Given the description of an element on the screen output the (x, y) to click on. 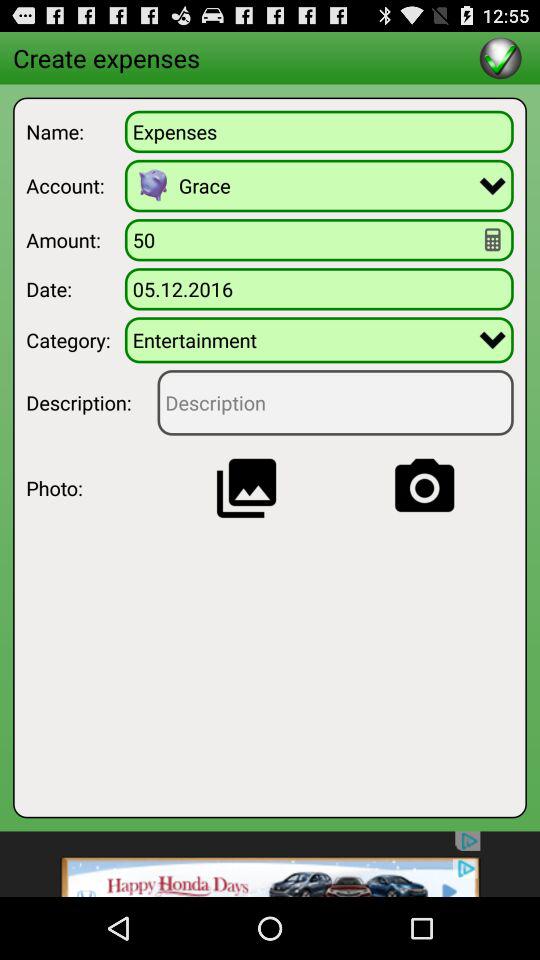
ok button (500, 57)
